Given the description of an element on the screen output the (x, y) to click on. 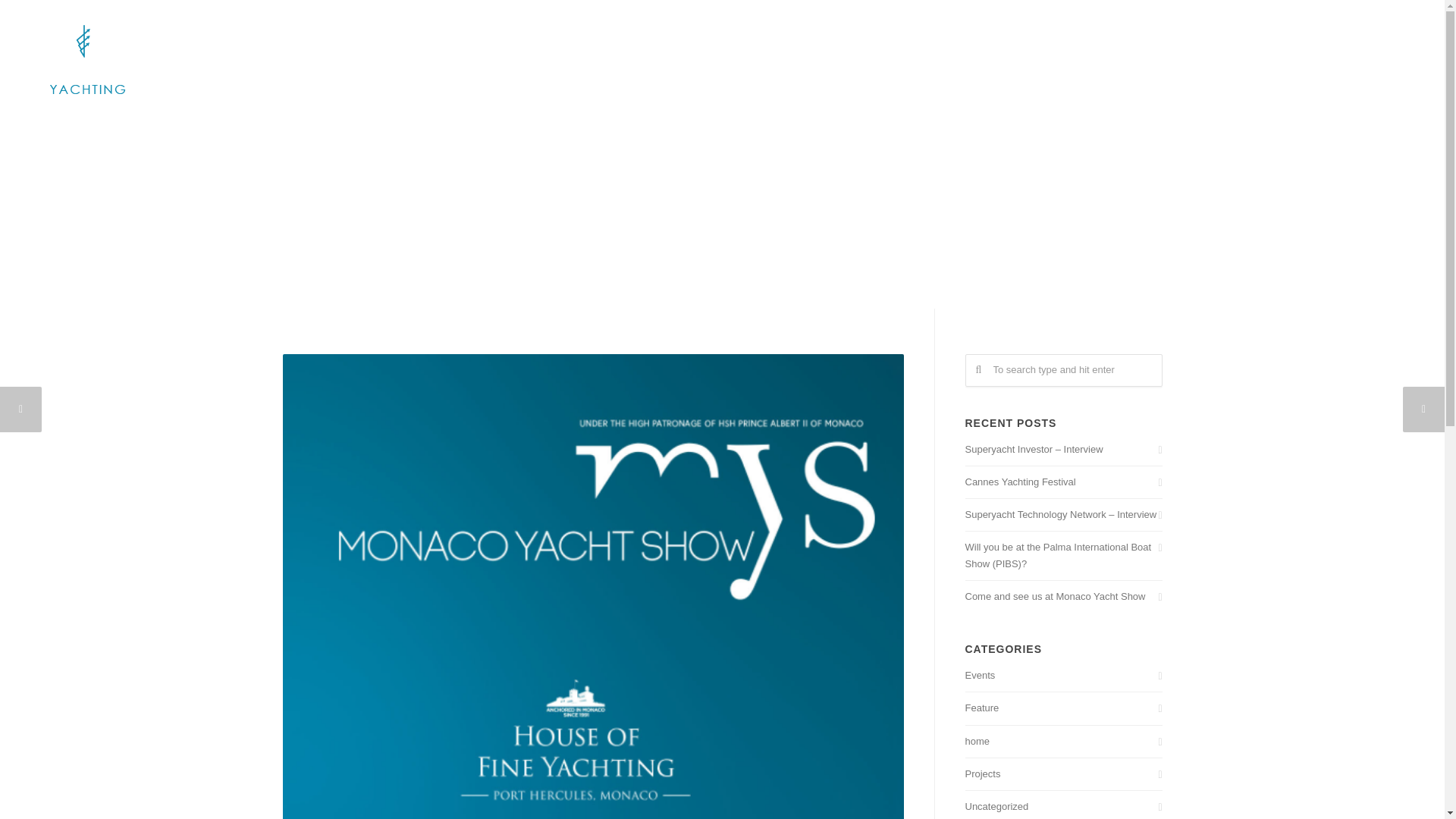
OUR TEAMS (818, 32)
Search (39, 16)
NEWS (1313, 32)
ABOUT (748, 32)
CONTACT (1374, 32)
NEW CONSTRUCTION (1054, 32)
To search type and hit enter (1062, 369)
YACHT MANAGEMENT (925, 32)
YACHT FINDERS (1169, 32)
